Given the description of an element on the screen output the (x, y) to click on. 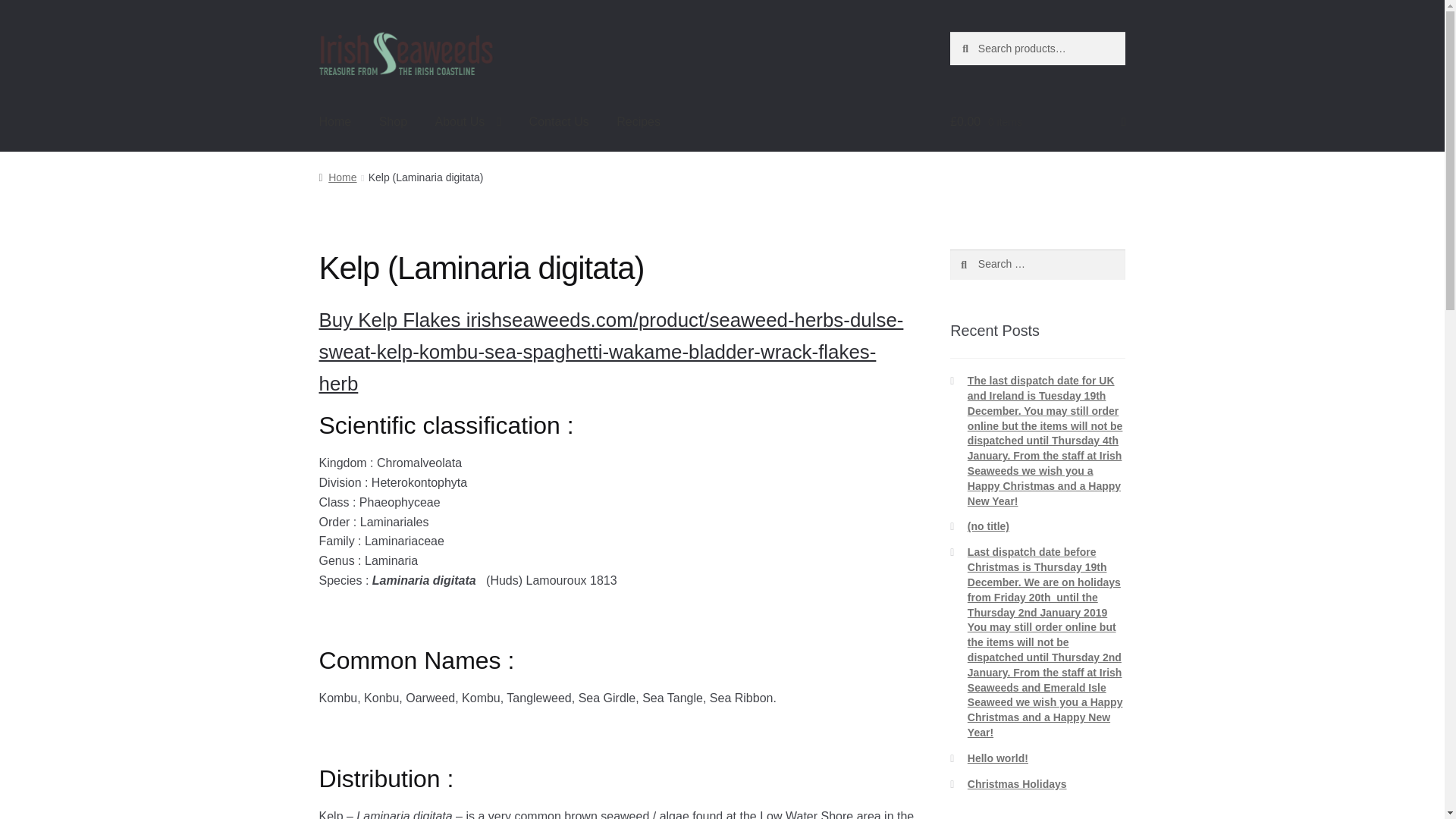
Contact Us (558, 121)
Home (335, 121)
Recipes (638, 121)
View your shopping cart (1037, 121)
About Us (467, 121)
